Given the description of an element on the screen output the (x, y) to click on. 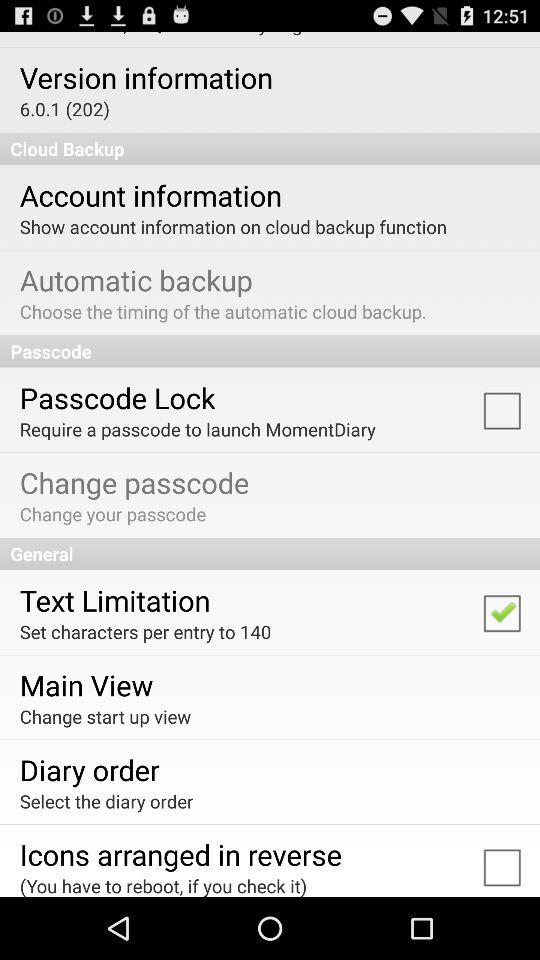
turn off the item above icons arranged in app (106, 800)
